Given the description of an element on the screen output the (x, y) to click on. 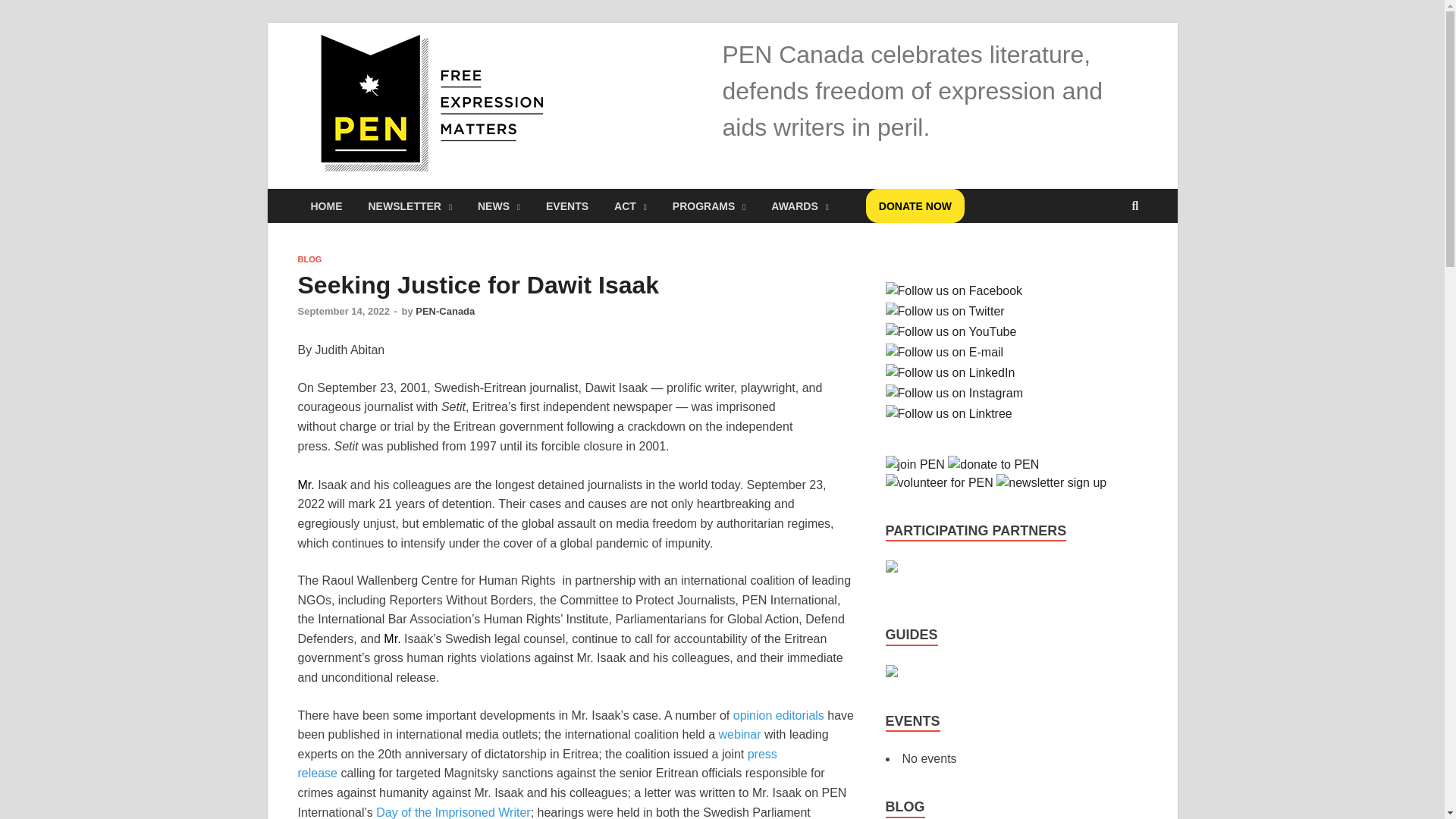
NEWS (498, 205)
Follow us on Twitter (944, 311)
AWARDS (799, 205)
Follow us on Instagram (954, 393)
NEWSLETTER (409, 205)
Contact us by email (944, 352)
ACT (630, 205)
Like us on Facebook (954, 290)
PROGRAMS (708, 205)
Follow us on Linktree (948, 413)
